Given the description of an element on the screen output the (x, y) to click on. 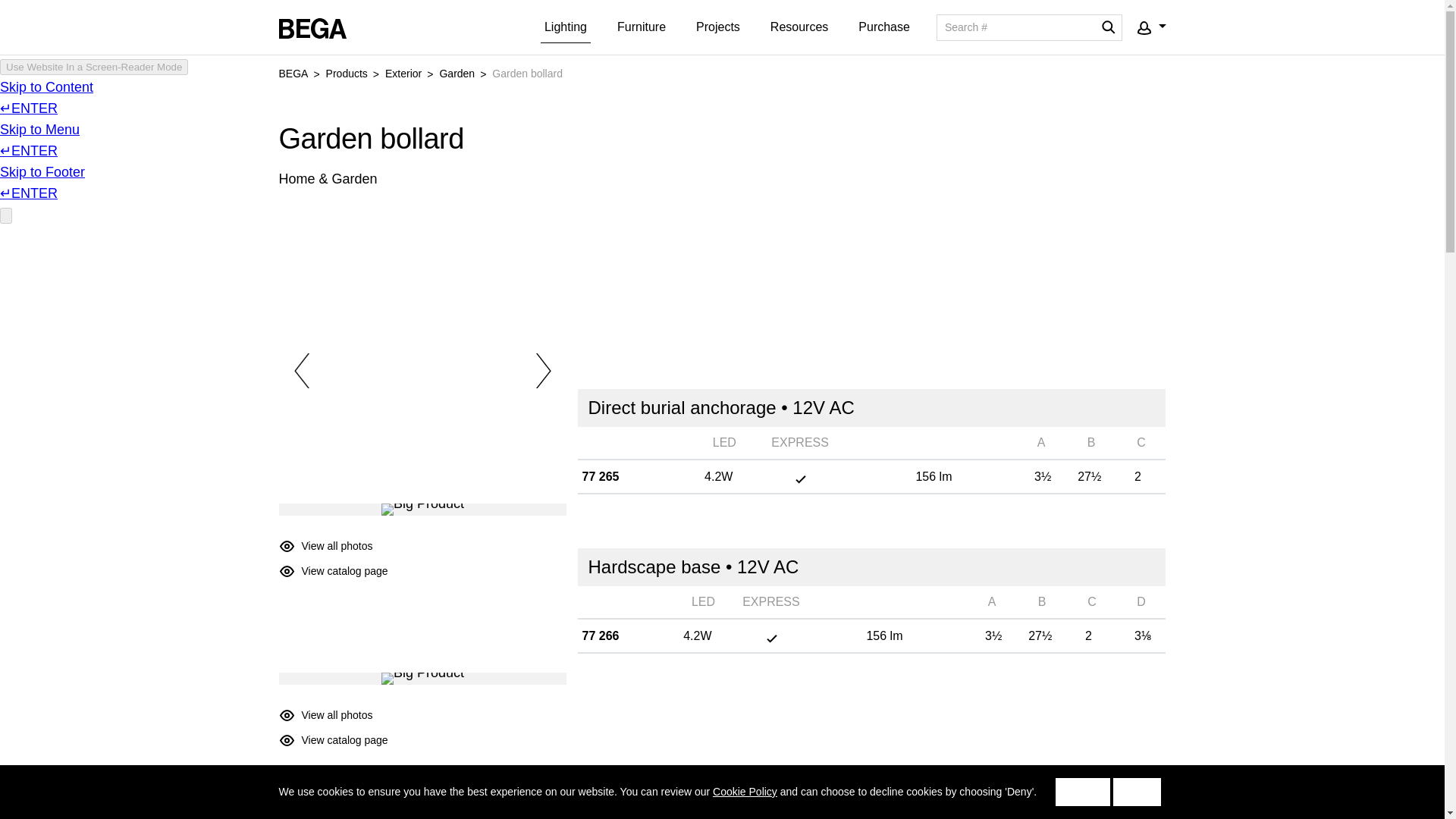
Lighting (565, 27)
